Given the description of an element on the screen output the (x, y) to click on. 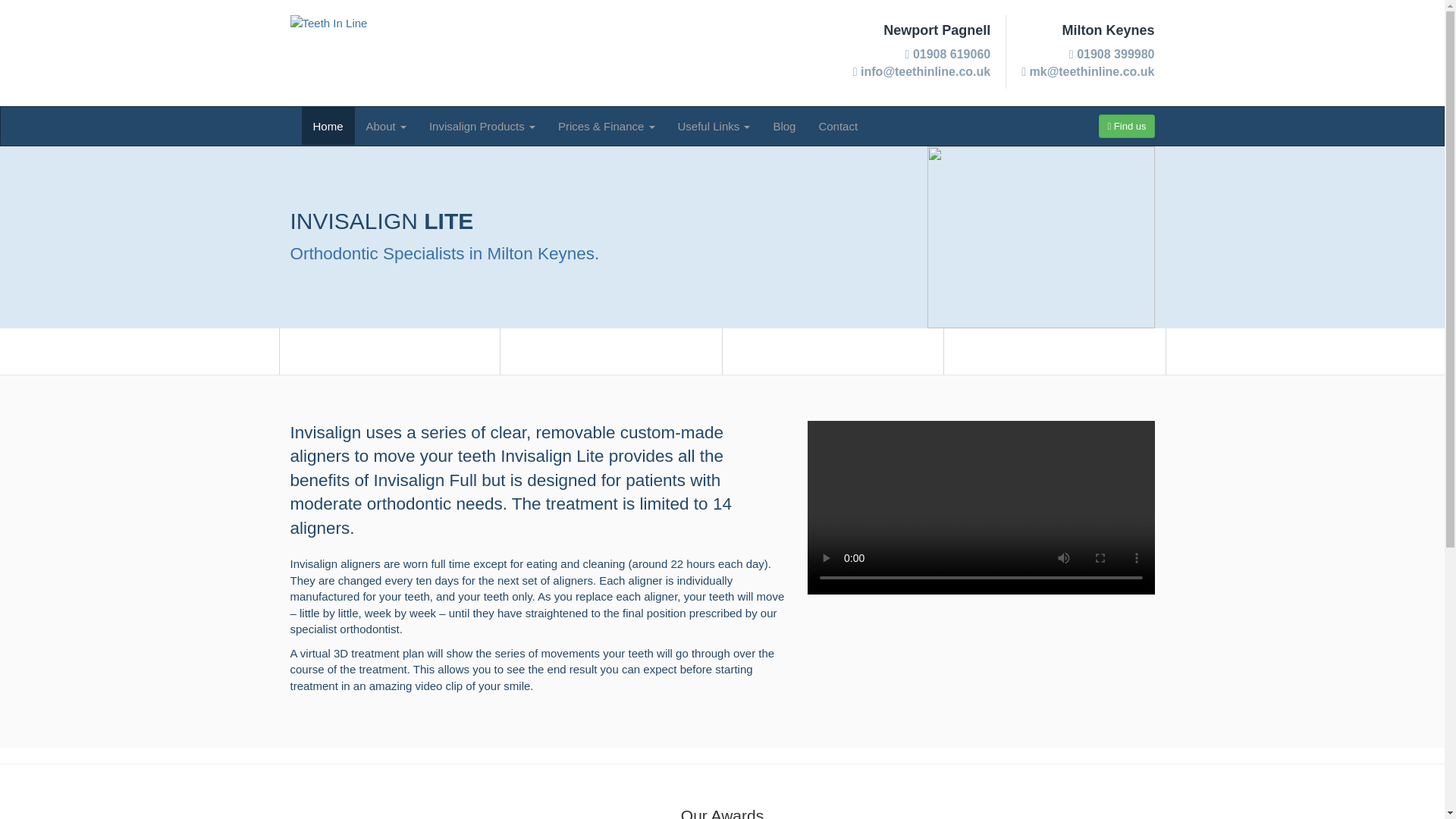
About (386, 125)
Blog (783, 125)
Teeth In Line (327, 52)
Home (328, 125)
Find us (1126, 125)
Contact (837, 125)
Useful Links (713, 125)
Invisalign Products (482, 125)
